Given the description of an element on the screen output the (x, y) to click on. 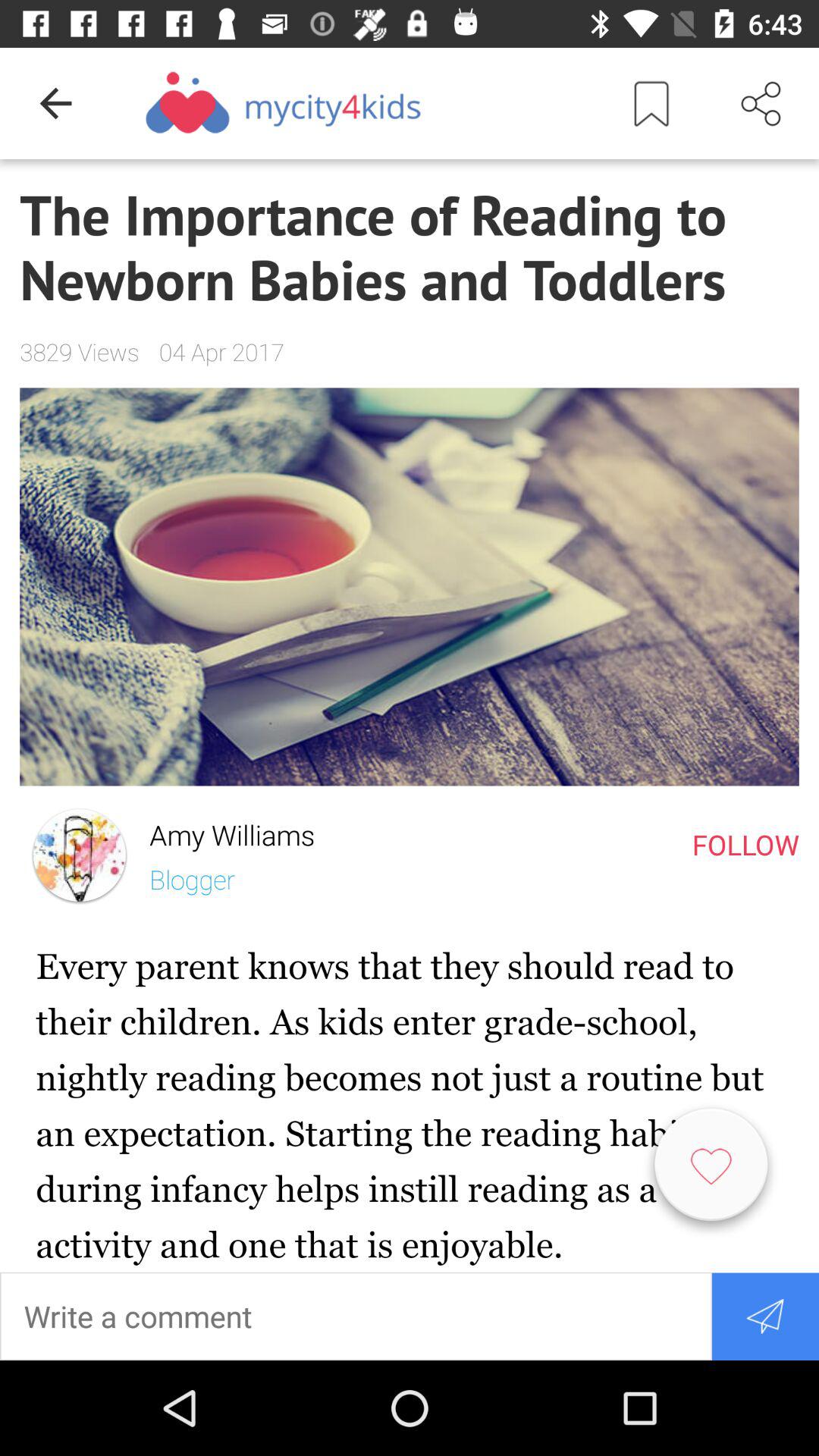
select icon above the importance of item (651, 103)
